Given the description of an element on the screen output the (x, y) to click on. 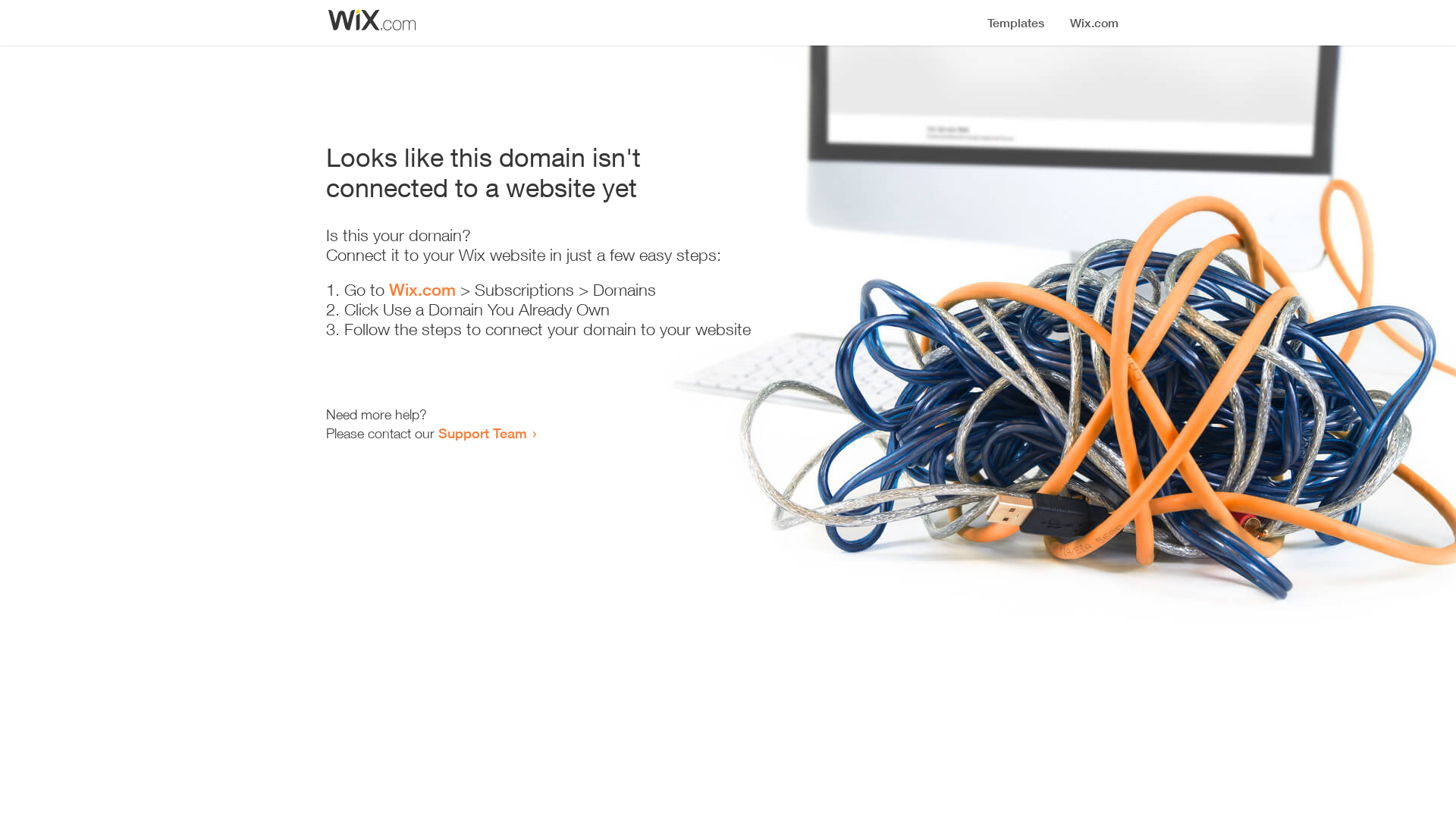
Support Team Element type: text (482, 432)
Wix.com Element type: text (422, 289)
